Given the description of an element on the screen output the (x, y) to click on. 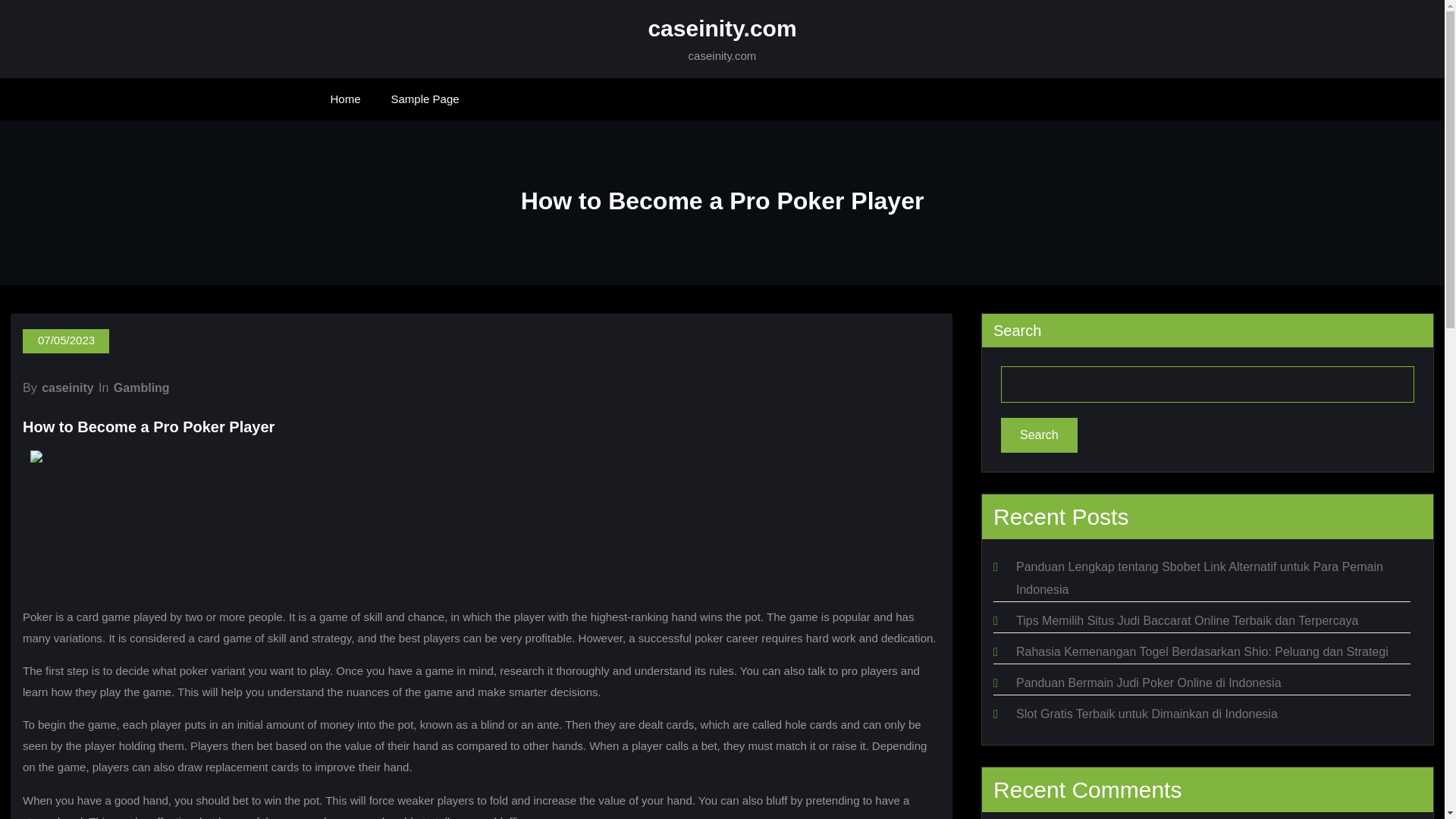
Panduan Bermain Judi Poker Online di Indonesia (1148, 682)
Search (1039, 434)
Home (345, 98)
Sample Page (424, 98)
Slot Gratis Terbaik untuk Dimainkan di Indonesia (1147, 713)
Gambling (141, 387)
caseinity.com (721, 27)
caseinity (67, 387)
Home (345, 98)
